Given the description of an element on the screen output the (x, y) to click on. 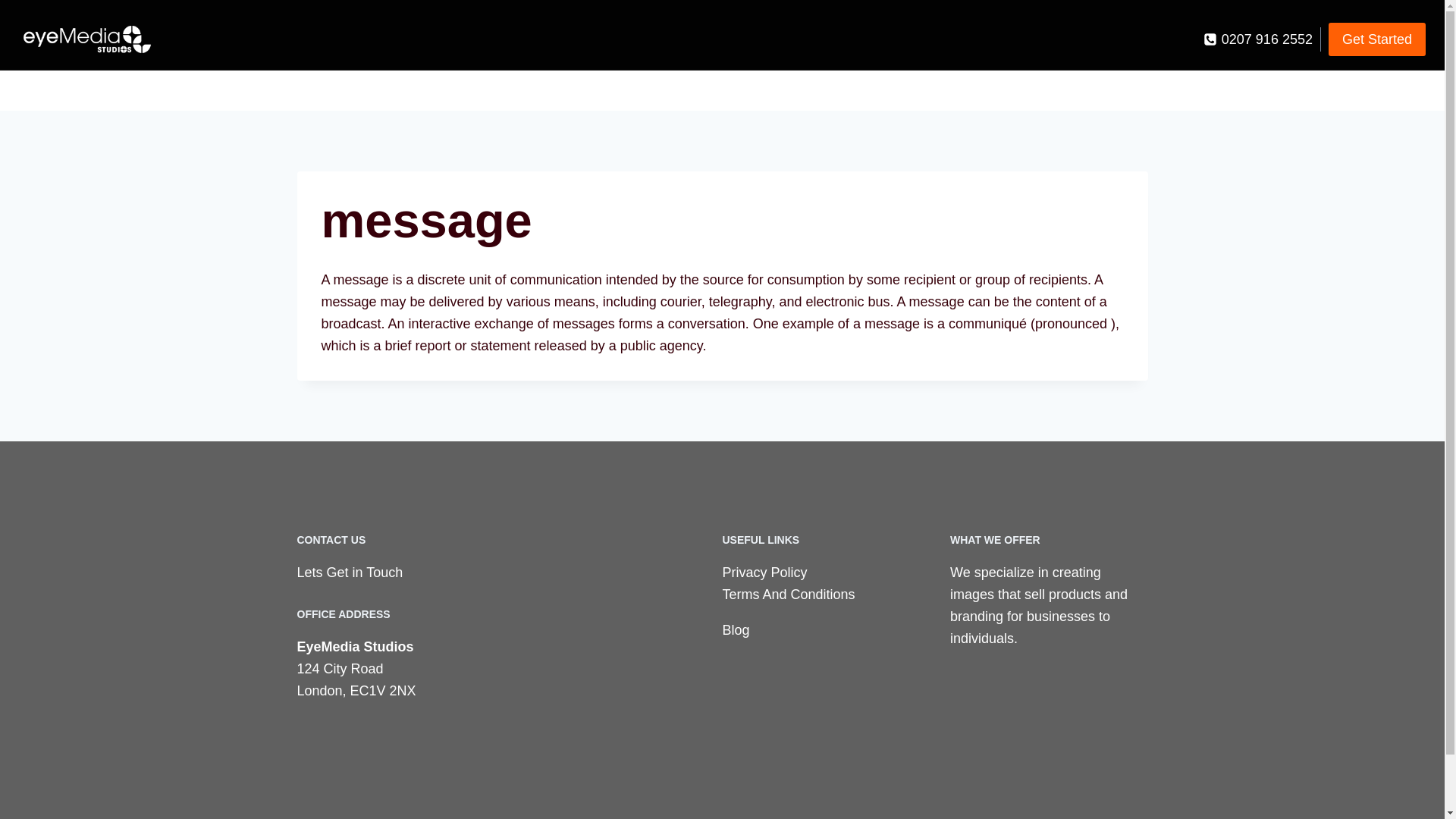
Pricing (1177, 93)
Corporate (918, 93)
Commercial Photography (1055, 93)
Galleries (736, 93)
Headshots (825, 93)
About (1239, 93)
Resources (1320, 93)
Get Started (1376, 38)
